Given the description of an element on the screen output the (x, y) to click on. 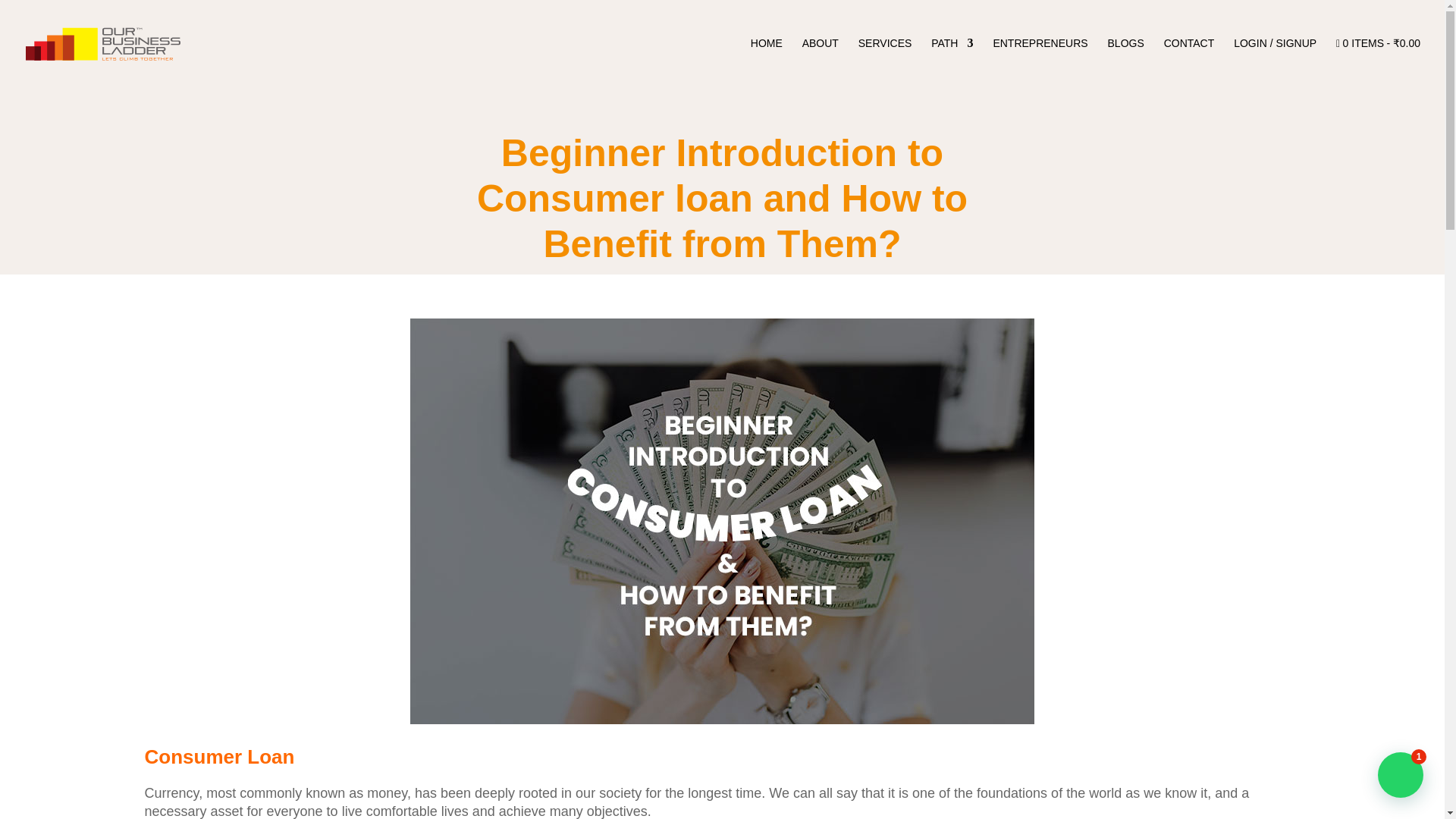
ENTREPRENEURS (1039, 61)
Start shopping (1378, 62)
SERVICES (885, 61)
CONTACT (1188, 61)
